Given the description of an element on the screen output the (x, y) to click on. 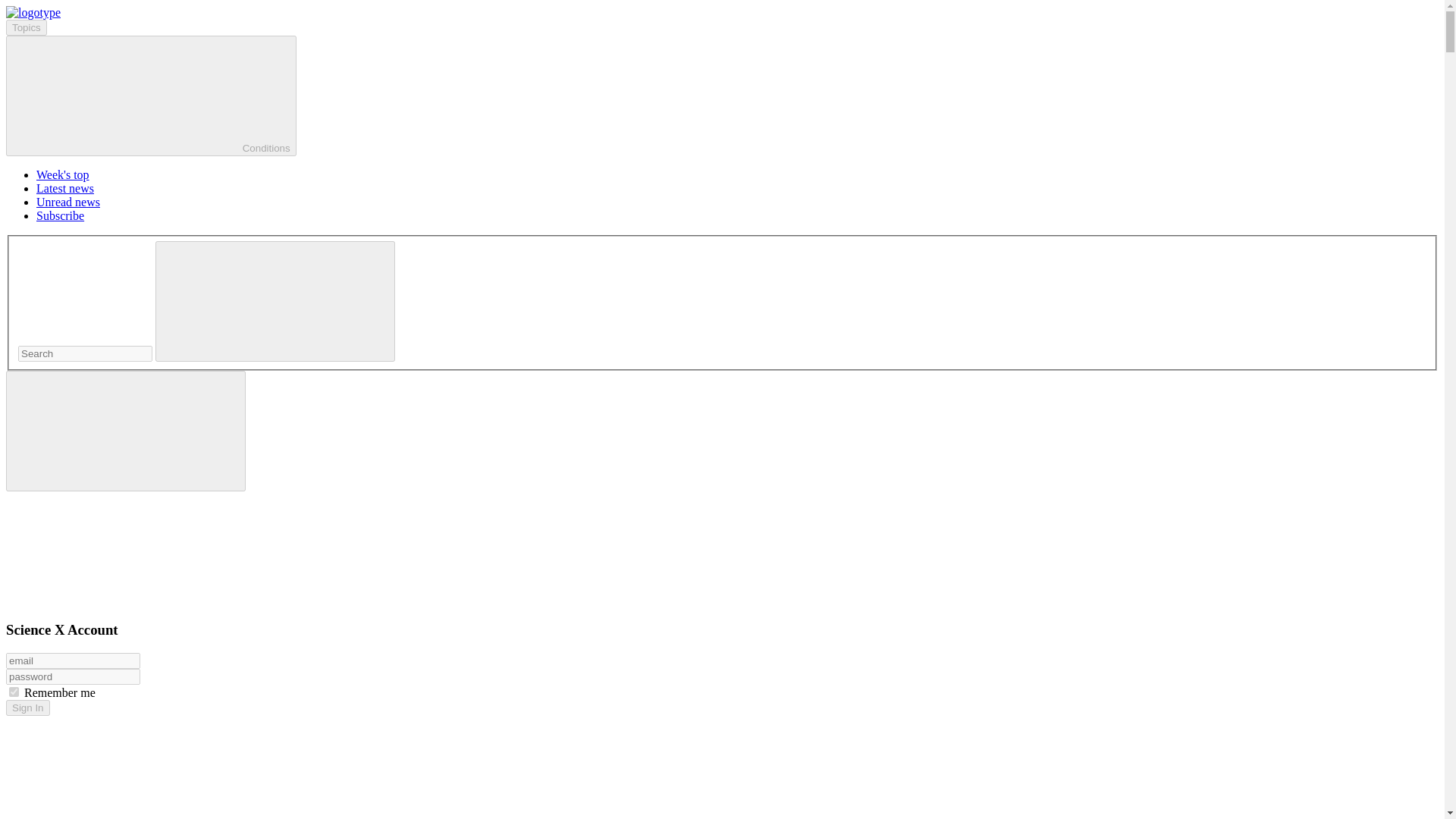
Topics (25, 27)
Sign In (27, 707)
Latest news (65, 187)
Conditions (151, 96)
Subscribe (60, 215)
Unread news (68, 201)
Week's top (62, 174)
on (13, 691)
